Given the description of an element on the screen output the (x, y) to click on. 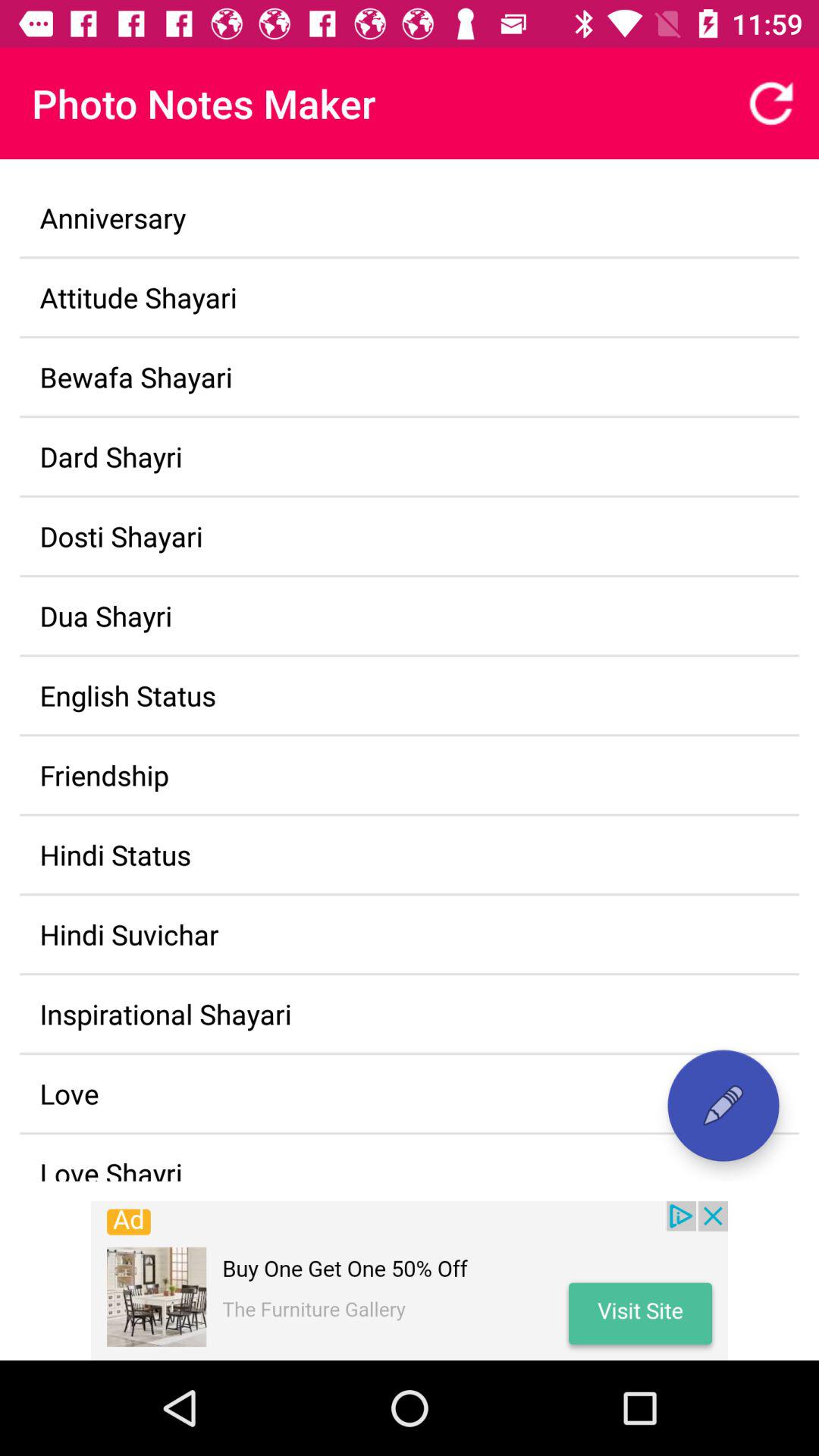
go to back option (771, 103)
